Given the description of an element on the screen output the (x, y) to click on. 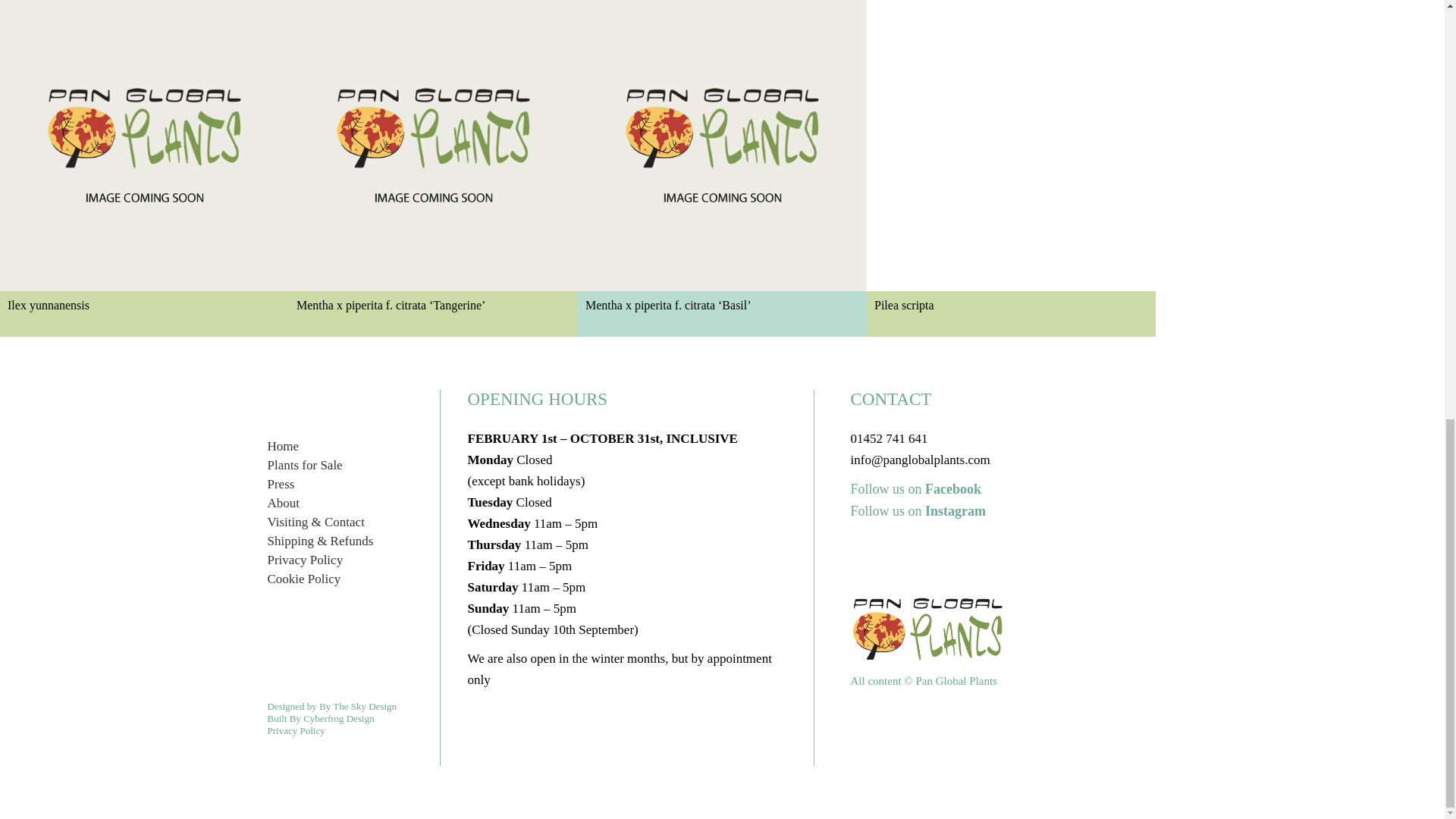
By The Sky Design (357, 706)
About (282, 503)
Plants for Sale (304, 464)
Privacy Policy (304, 559)
Home (282, 445)
Cookie Policy (303, 578)
Press (280, 483)
